Given the description of an element on the screen output the (x, y) to click on. 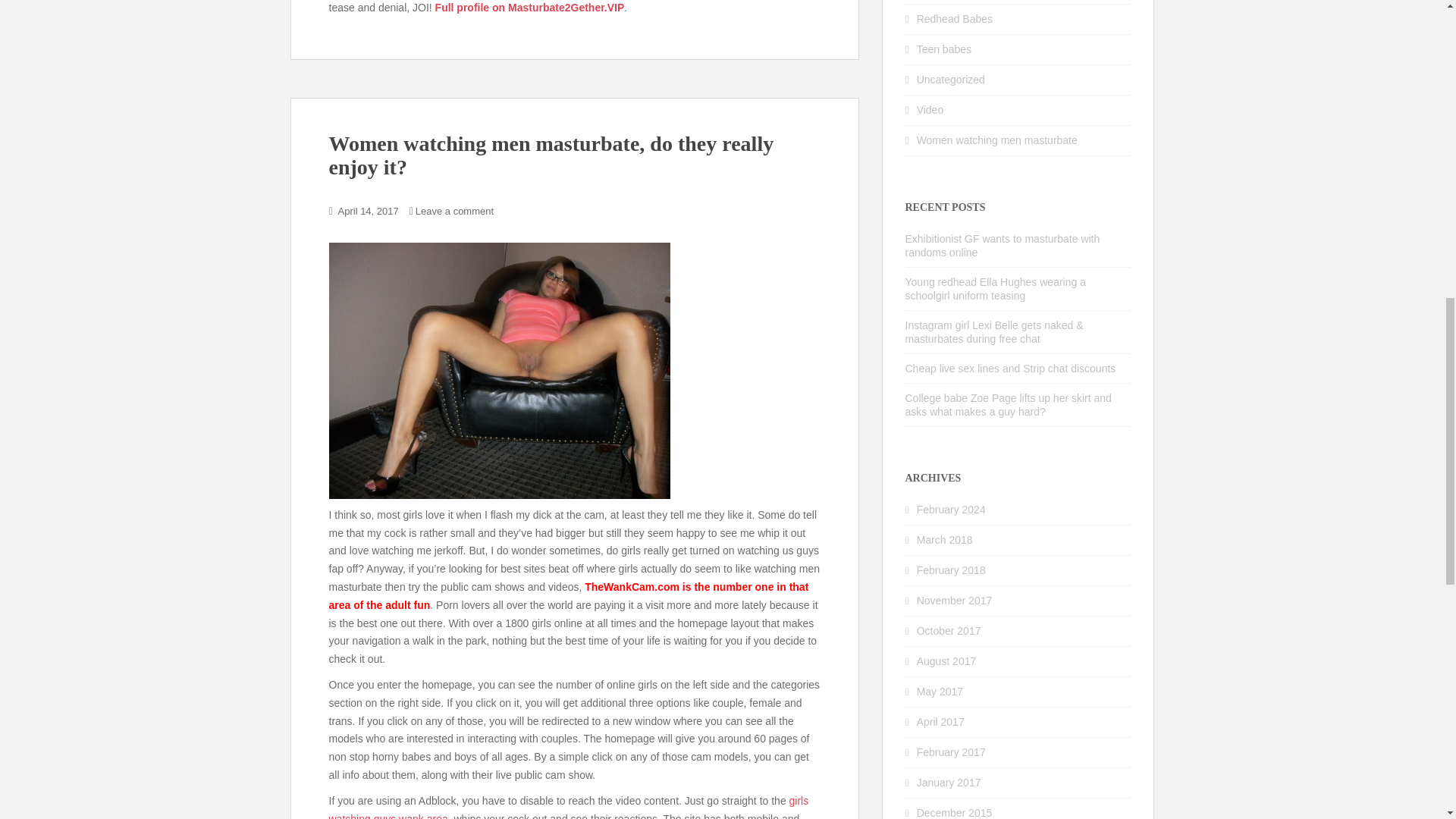
Teen babes (944, 49)
Full profile on Masturbate2Gether.VIP (529, 7)
Leave a comment (453, 211)
April 14, 2017 (367, 211)
Exhibitionist GF wants to masturbate with randoms online (1002, 245)
Uncategorized (951, 79)
Video (930, 110)
Women watching men masturbate, do they really enjoy it? (551, 155)
Redhead Babes (954, 19)
girls watching guys wank area (569, 806)
Women watching men masturbate (997, 140)
